Given the description of an element on the screen output the (x, y) to click on. 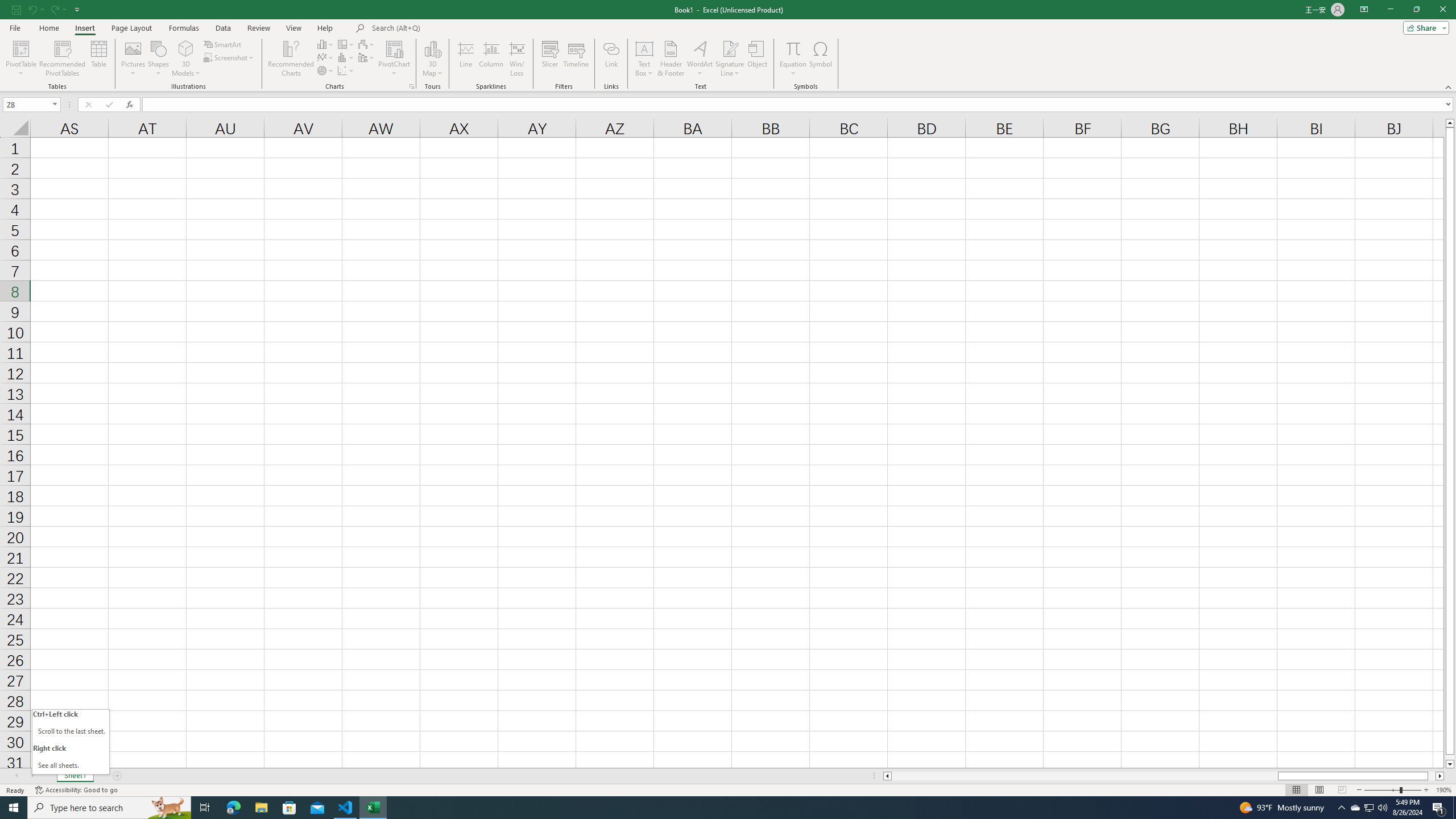
Insert Line or Area Chart (325, 56)
Slicer... (550, 58)
Screenshot (229, 56)
Zoom (1392, 790)
Formulas (184, 28)
Signature Line (729, 58)
Recommended PivotTables (62, 58)
Link (611, 58)
Customize Quick Access Toolbar (77, 9)
Column (491, 58)
Insert Column or Bar Chart (325, 44)
Review (258, 28)
Microsoft search (450, 28)
